Given the description of an element on the screen output the (x, y) to click on. 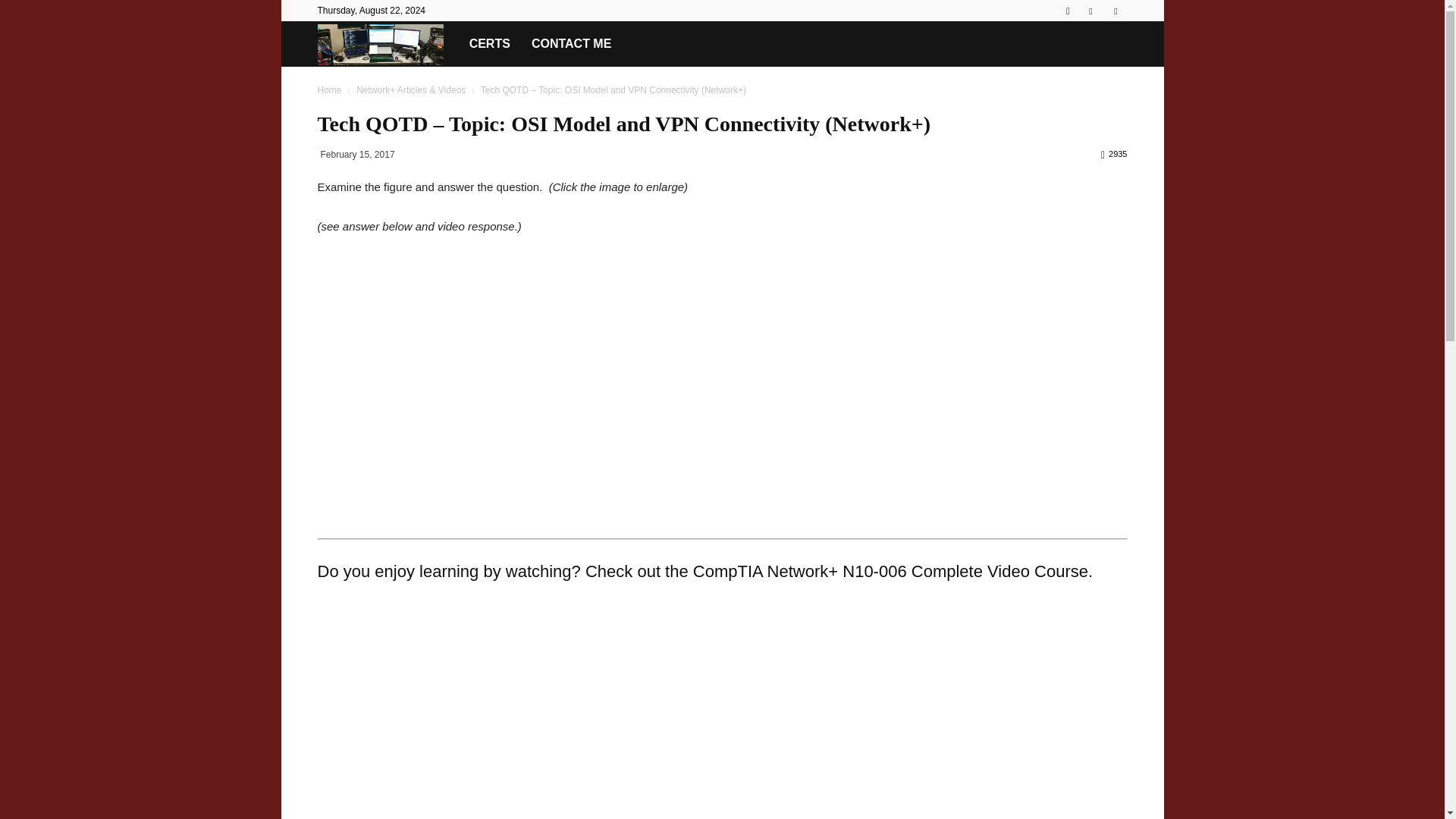
Search (1085, 64)
D Pro Computer (387, 43)
Home (328, 90)
CERTS (489, 43)
Youtube (1114, 10)
RSS (1090, 10)
CONTACT ME (571, 43)
